Given the description of an element on the screen output the (x, y) to click on. 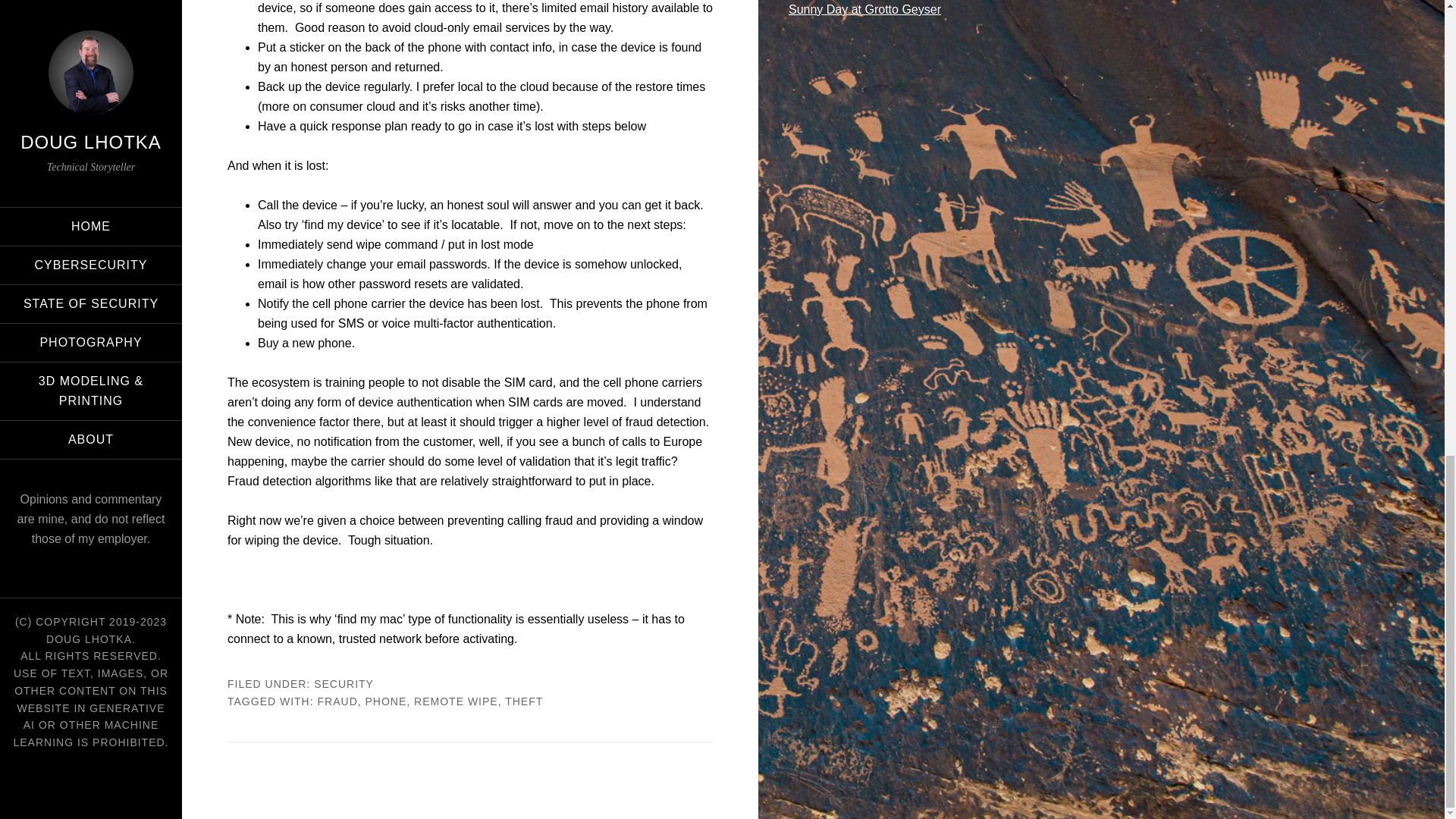
PHONE (386, 701)
FRAUD (337, 701)
THEFT (524, 701)
SECURITY (344, 684)
REMOTE WIPE (455, 701)
Sunny Day at Grotto Geyser (864, 9)
